Given the description of an element on the screen output the (x, y) to click on. 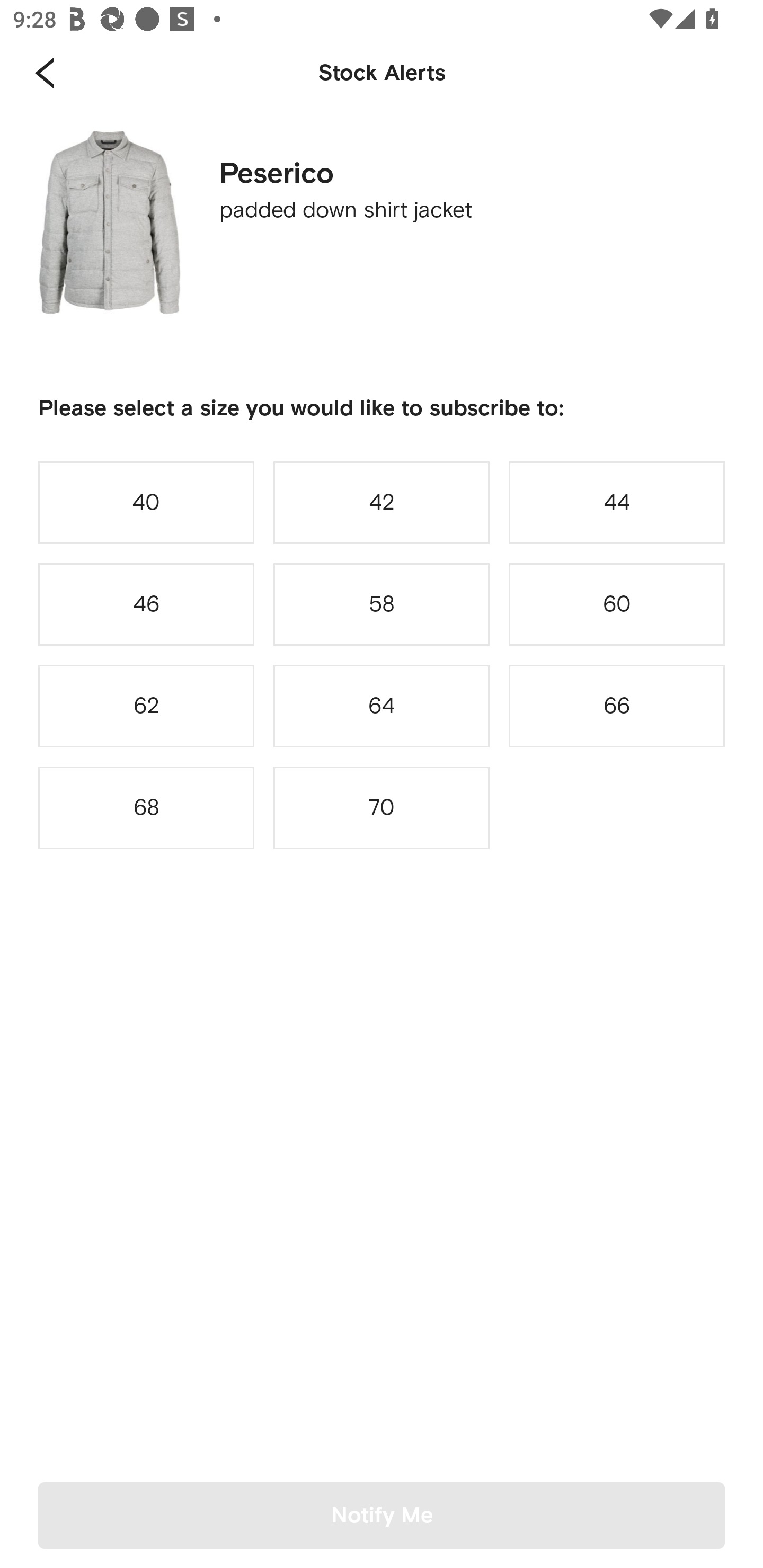
40 (146, 502)
42 (381, 502)
44 (616, 502)
46 (146, 604)
58 (381, 604)
60 (616, 604)
62 (146, 705)
64 (381, 705)
66 (616, 705)
68 (146, 807)
70 (381, 807)
Notify Me (381, 1515)
